Given the description of an element on the screen output the (x, y) to click on. 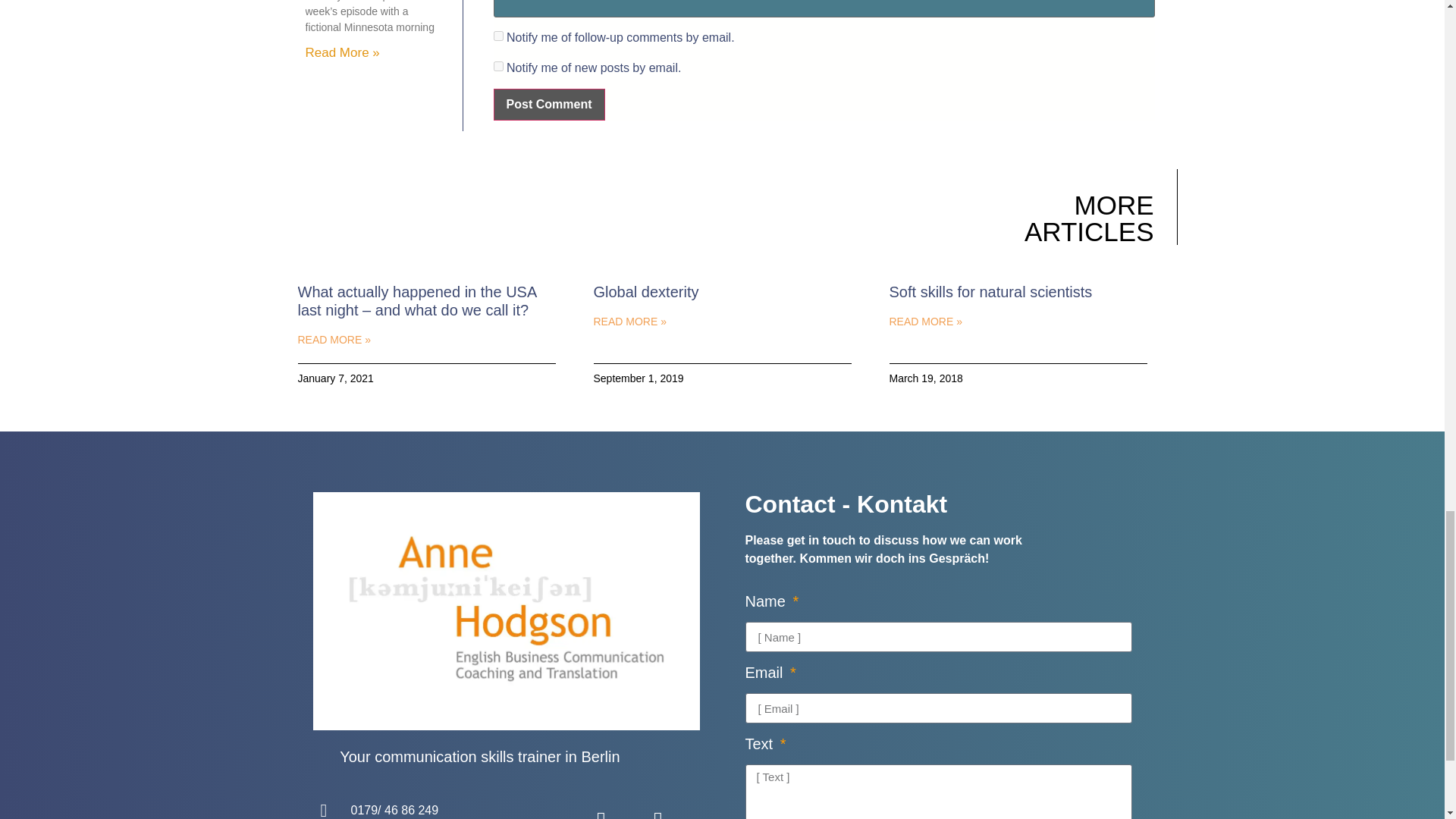
subscribe (498, 66)
Post Comment (549, 104)
subscribe (498, 35)
